Given the description of an element on the screen output the (x, y) to click on. 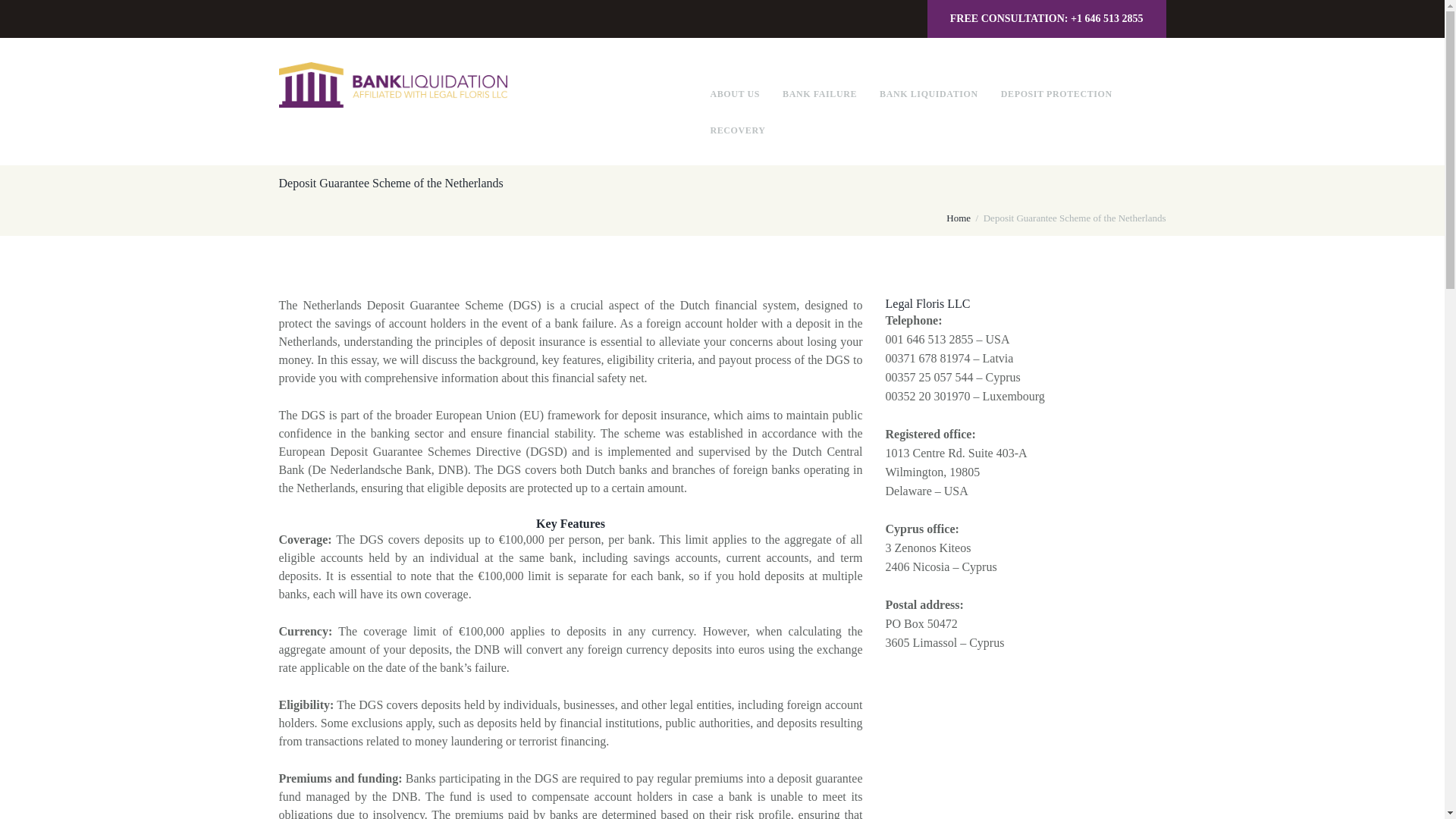
DEPOSIT PROTECTION (1056, 93)
RECOVERY (737, 130)
Home (958, 218)
ABOUT US (735, 93)
BANK LIQUIDATION (928, 93)
BANK FAILURE (820, 93)
